Given the description of an element on the screen output the (x, y) to click on. 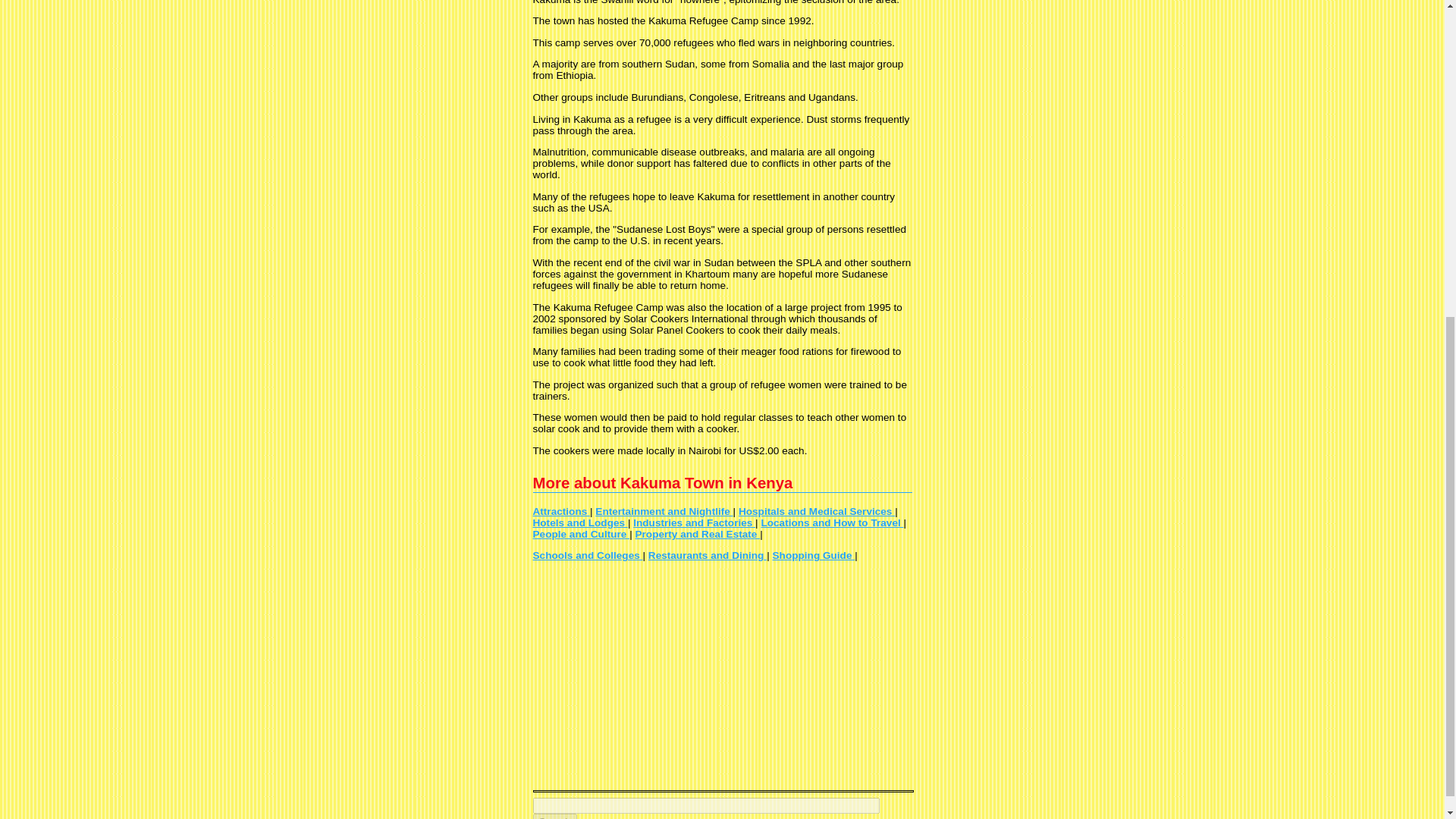
People and Culture (580, 533)
Hotels and Lodges (579, 522)
Locations and How to Travel (831, 522)
Hospitals and Medical Services (816, 511)
Entertainment and Nightlife (663, 511)
Shopping Guide (814, 555)
Attractions (560, 511)
Property and Real Estate (697, 533)
Schools and Colleges (587, 555)
Industries and Factories (694, 522)
